Given the description of an element on the screen output the (x, y) to click on. 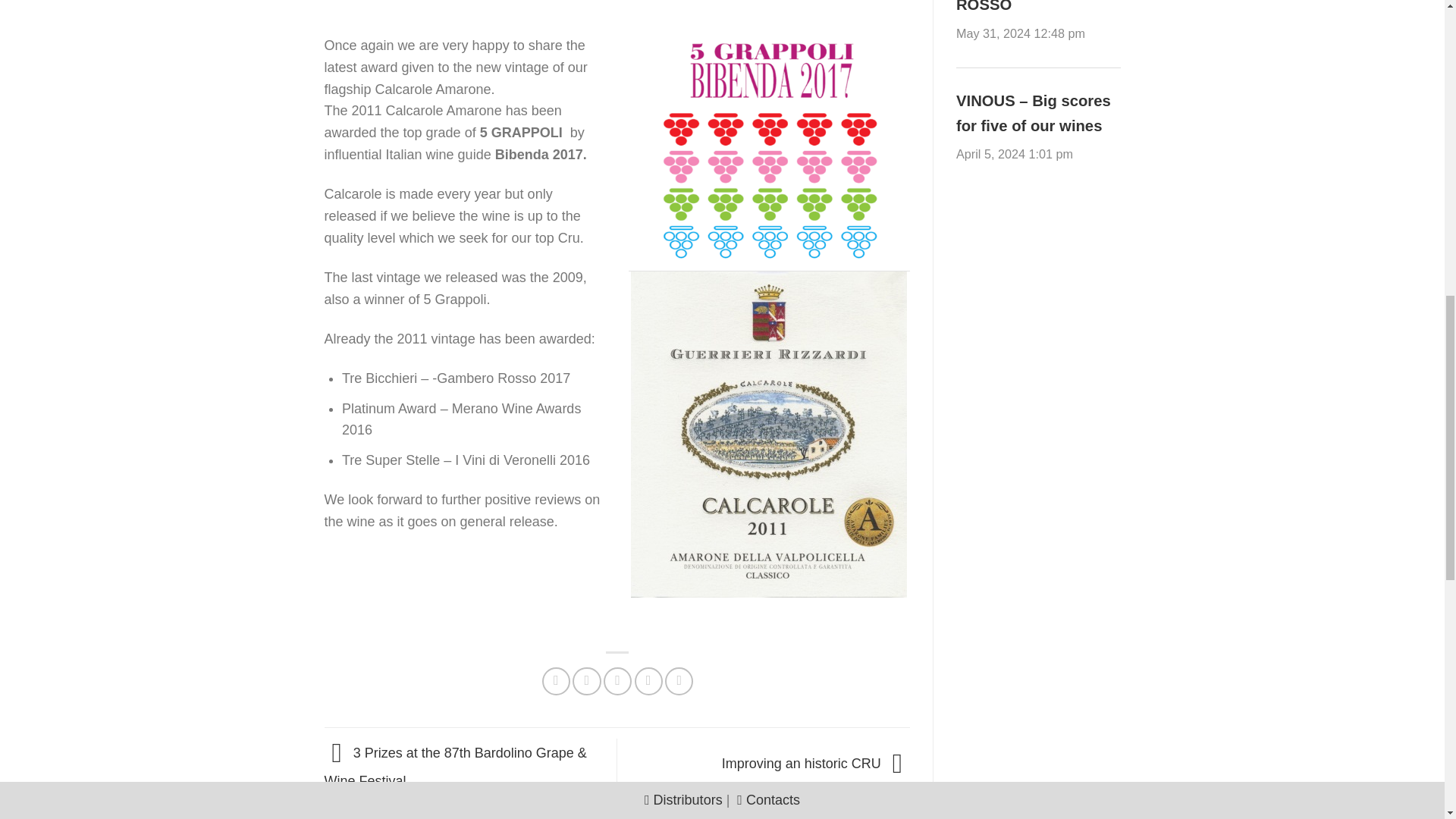
Share on Twitter (585, 681)
Share on LinkedIn (679, 681)
Pin on Pinterest (648, 681)
Share on Facebook (555, 681)
Email to a Friend (617, 681)
